Given the description of an element on the screen output the (x, y) to click on. 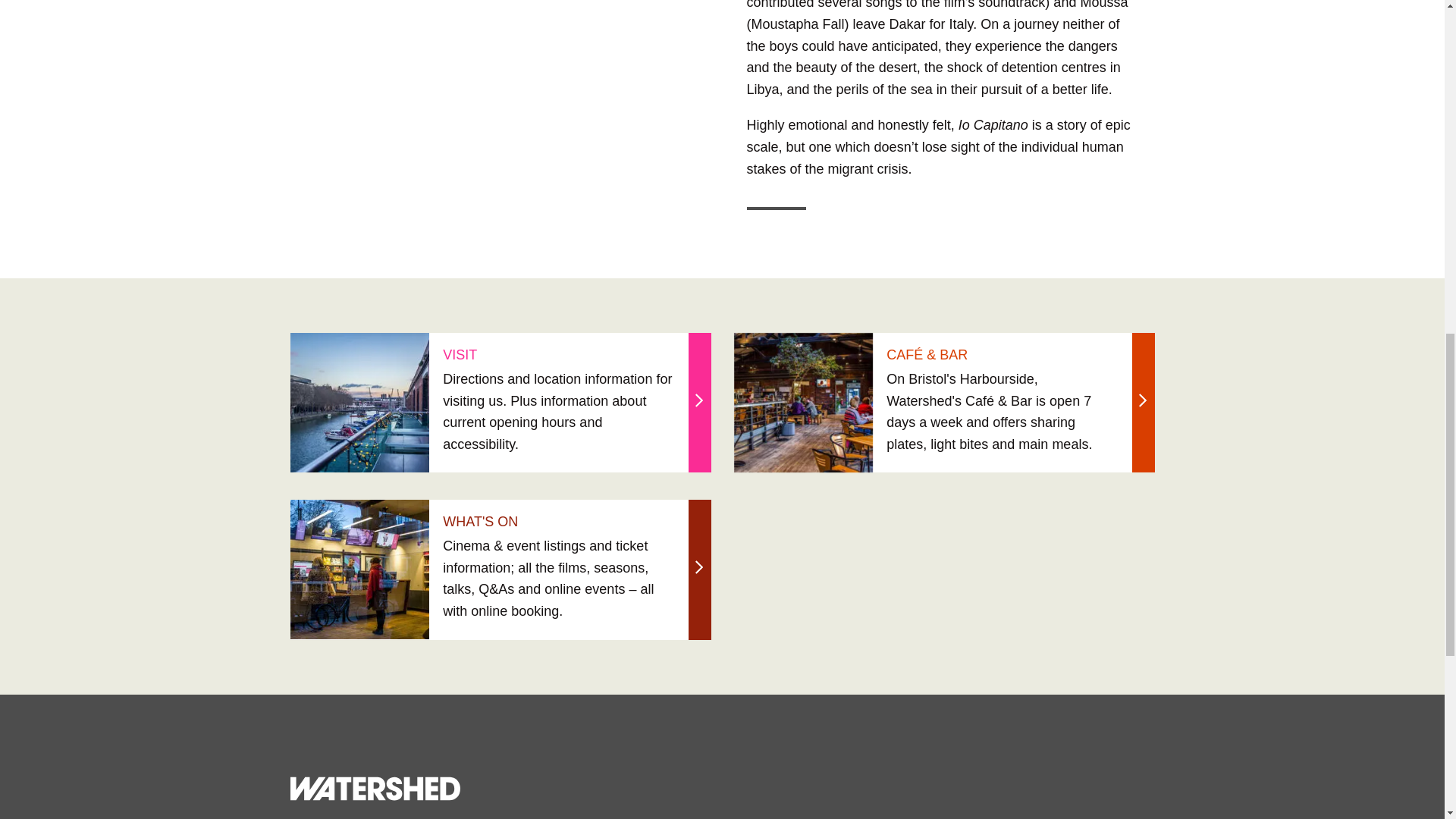
watershed (374, 788)
